Given the description of an element on the screen output the (x, y) to click on. 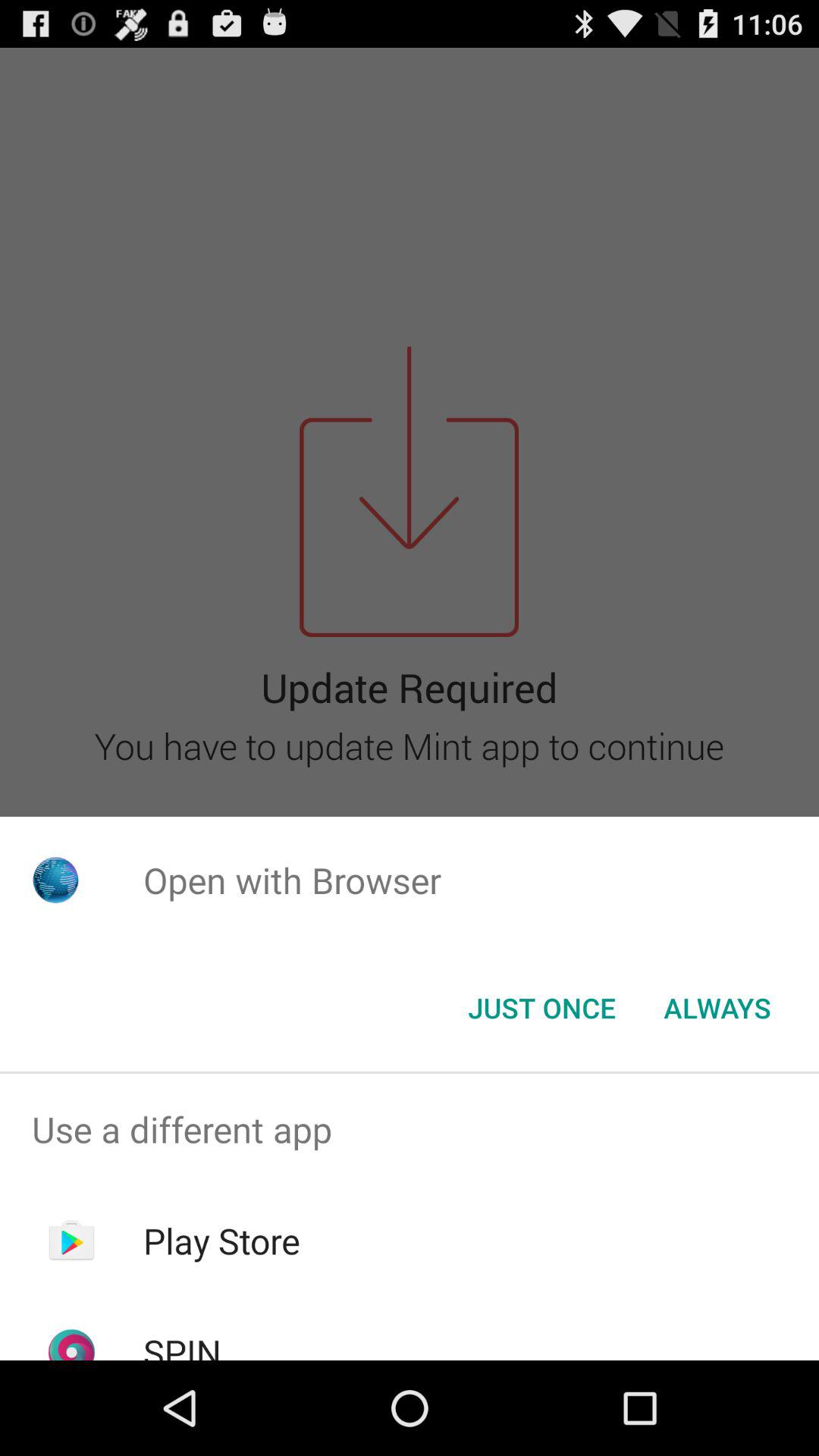
press the always (717, 1007)
